Given the description of an element on the screen output the (x, y) to click on. 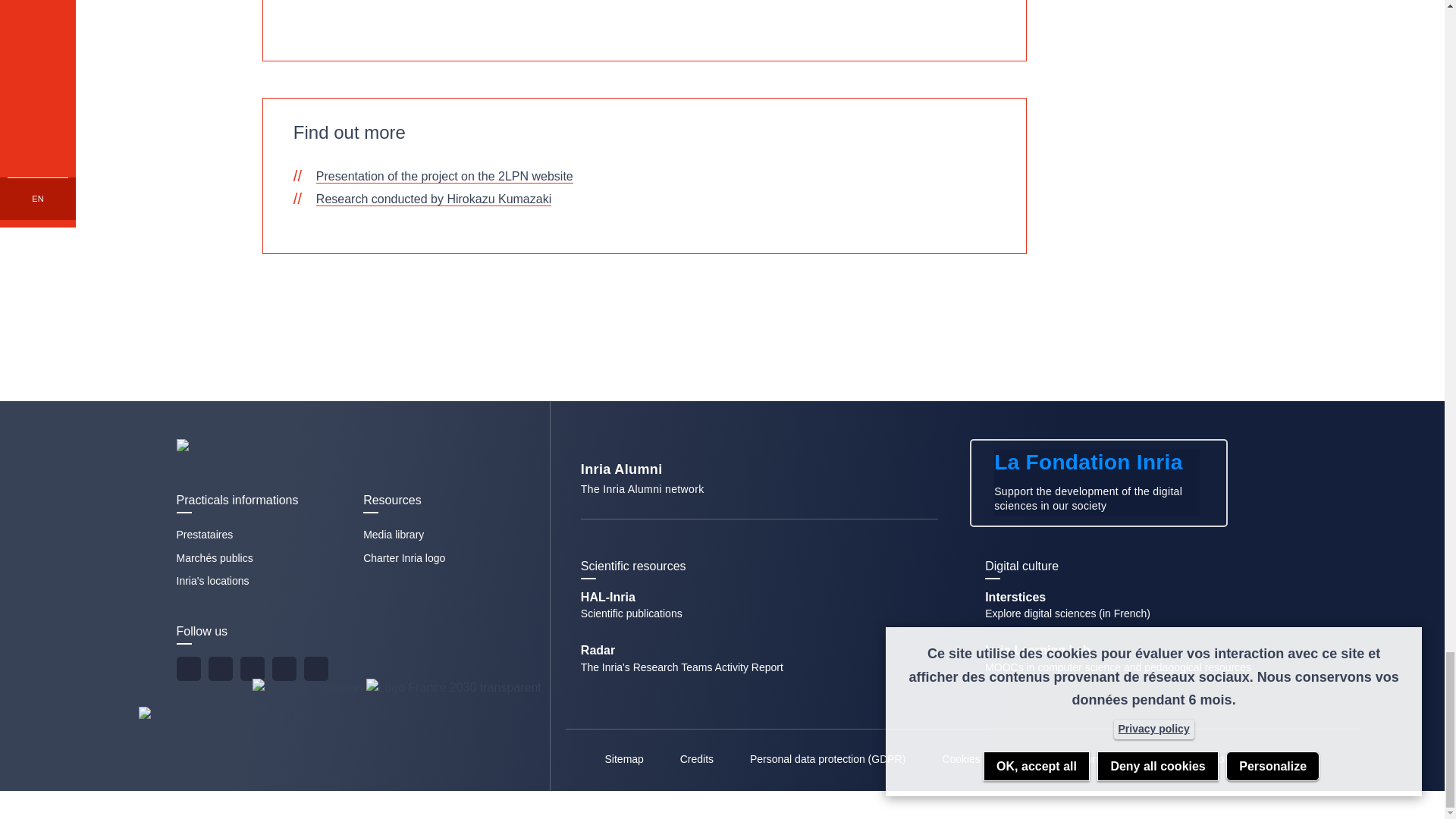
La Fondation Inria (1098, 482)
Carnot Institute (229, 745)
Home (301, 447)
Inria's locations (212, 580)
Media library (392, 534)
Digital culture (1163, 639)
Research conducted by Hirokazu Kumazaki (433, 199)
Presentation of the project on the 2LPN website (444, 176)
Inria Learning Lab (1117, 667)
Twitter (188, 668)
Youtube (251, 668)
Instagram (282, 668)
Inria Alumni (758, 490)
Scientific resources (758, 490)
